Given the description of an element on the screen output the (x, y) to click on. 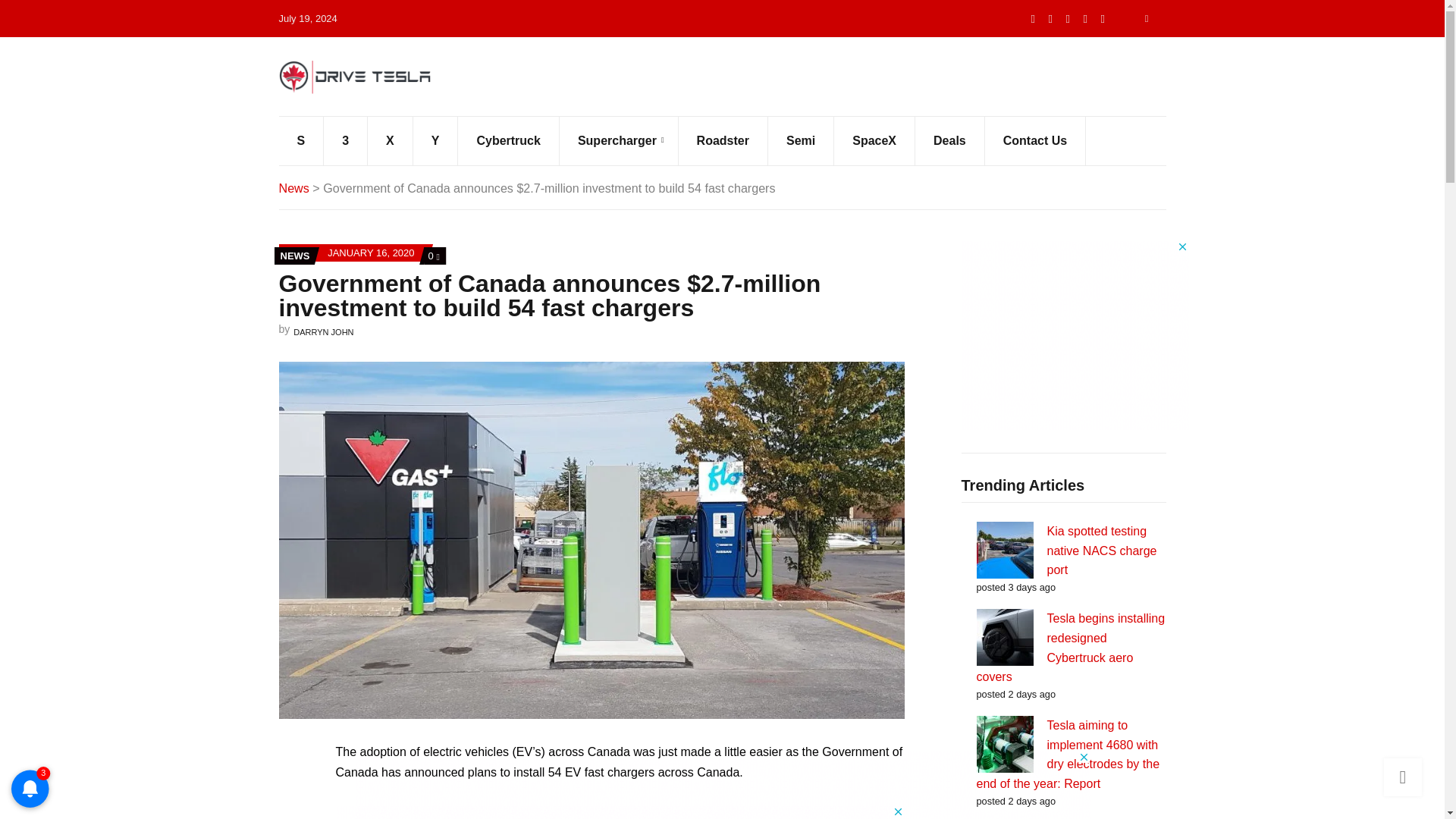
Go to the News category archives. (293, 187)
Instagram (1102, 18)
Roadster (723, 141)
Facebook (1068, 18)
SpaceX (874, 141)
S (301, 141)
X (390, 141)
Y (435, 141)
Supercharger (618, 141)
X (1051, 18)
3rd party ad content (619, 812)
DARRYN JOHN (323, 331)
3rd party ad content (1074, 334)
Cybertruck (508, 141)
3rd party ad content (722, 785)
